Given the description of an element on the screen output the (x, y) to click on. 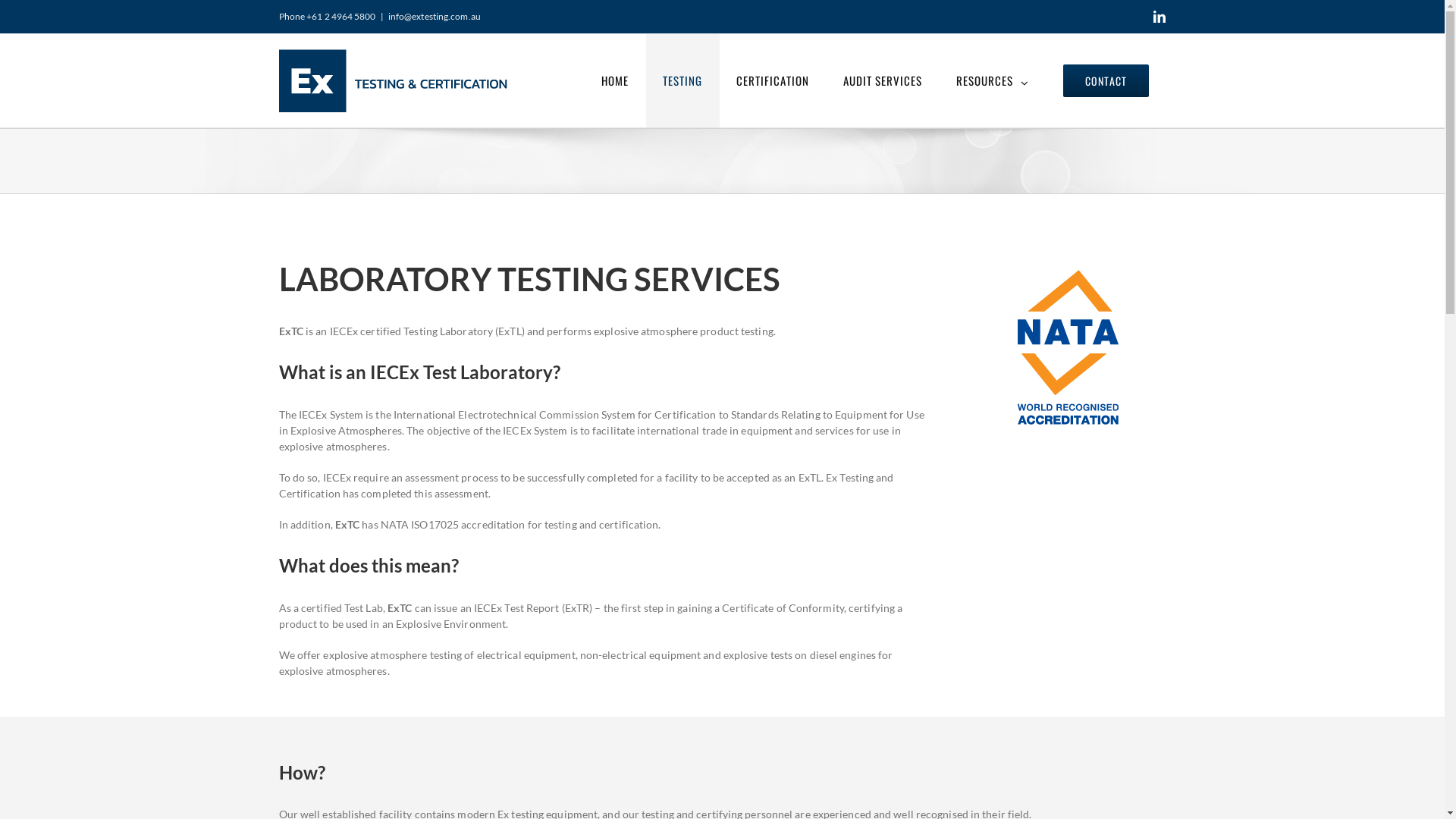
CERTIFICATION Element type: text (771, 80)
info@extesting.com.au Element type: text (434, 15)
CONTACT Element type: text (1106, 80)
TESTING Element type: text (682, 80)
AUDIT SERVICES Element type: text (882, 80)
LinkedIn Element type: text (1159, 16)
HOME Element type: text (614, 80)
RESOURCES Element type: text (991, 80)
